Given the description of an element on the screen output the (x, y) to click on. 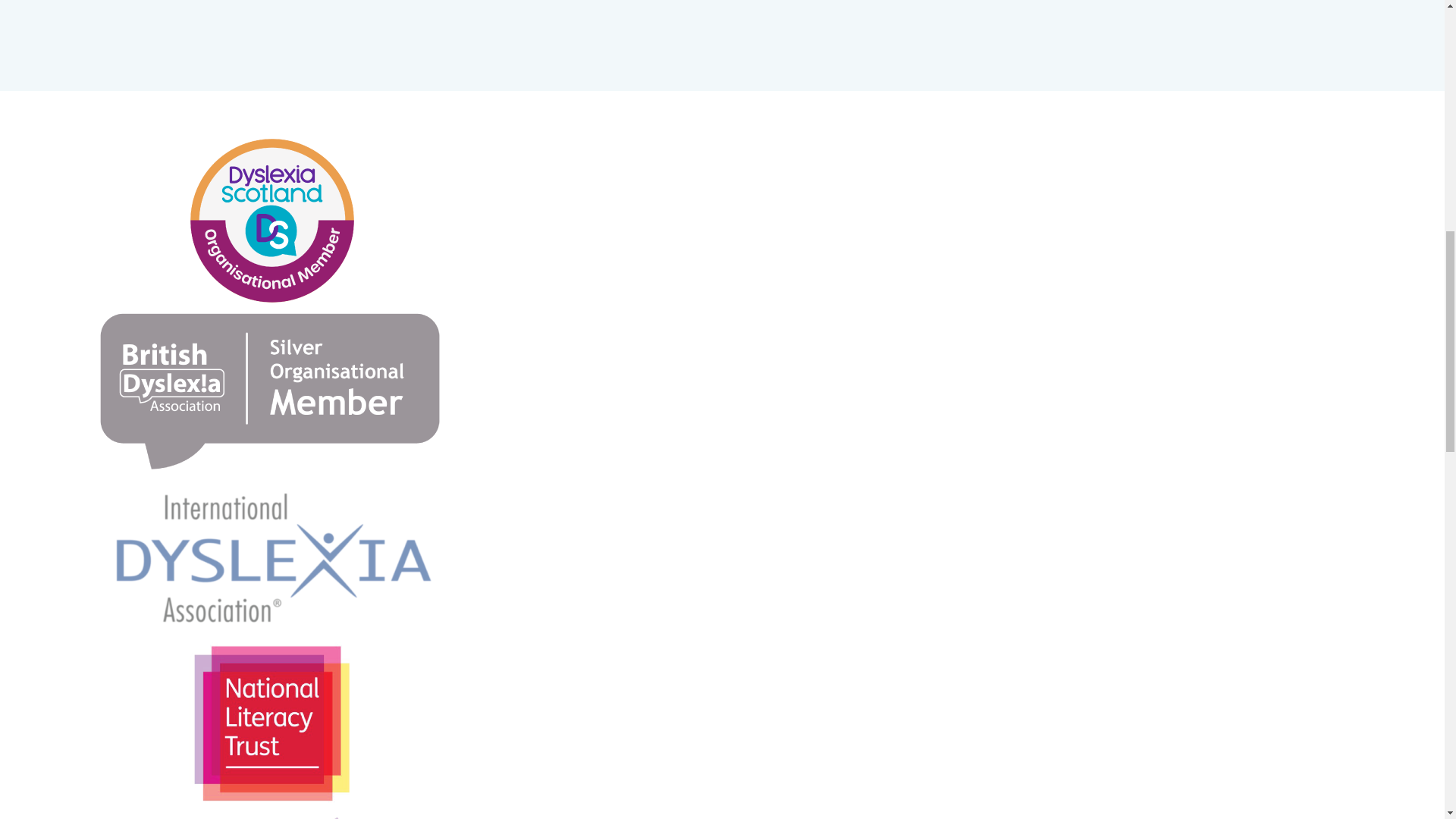
Visit British Dyslexia Association (272, 387)
Visit Dyslexia Scotland (272, 219)
Visit National Literary Trust (272, 724)
Visit International Dyslexia Association (272, 555)
